Given the description of an element on the screen output the (x, y) to click on. 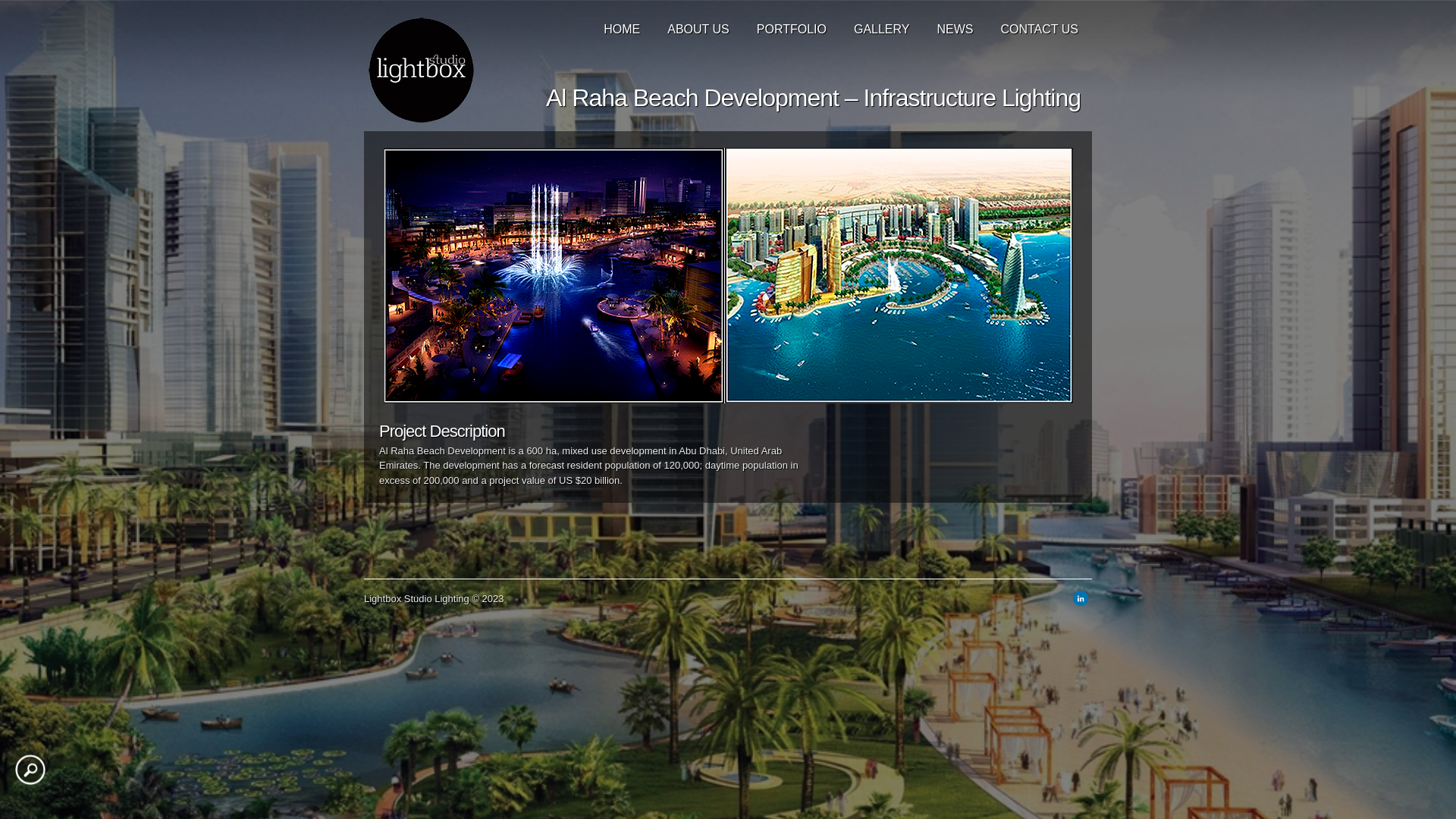
Linkedin Element type: hover (1080, 601)
CONTACT US Element type: text (1039, 25)
ABOUT US Element type: text (698, 25)
NEWS Element type: text (954, 25)
GALLERY Element type: text (881, 25)
HOME Element type: text (621, 25)
PORTFOLIO Element type: text (791, 25)
